Given the description of an element on the screen output the (x, y) to click on. 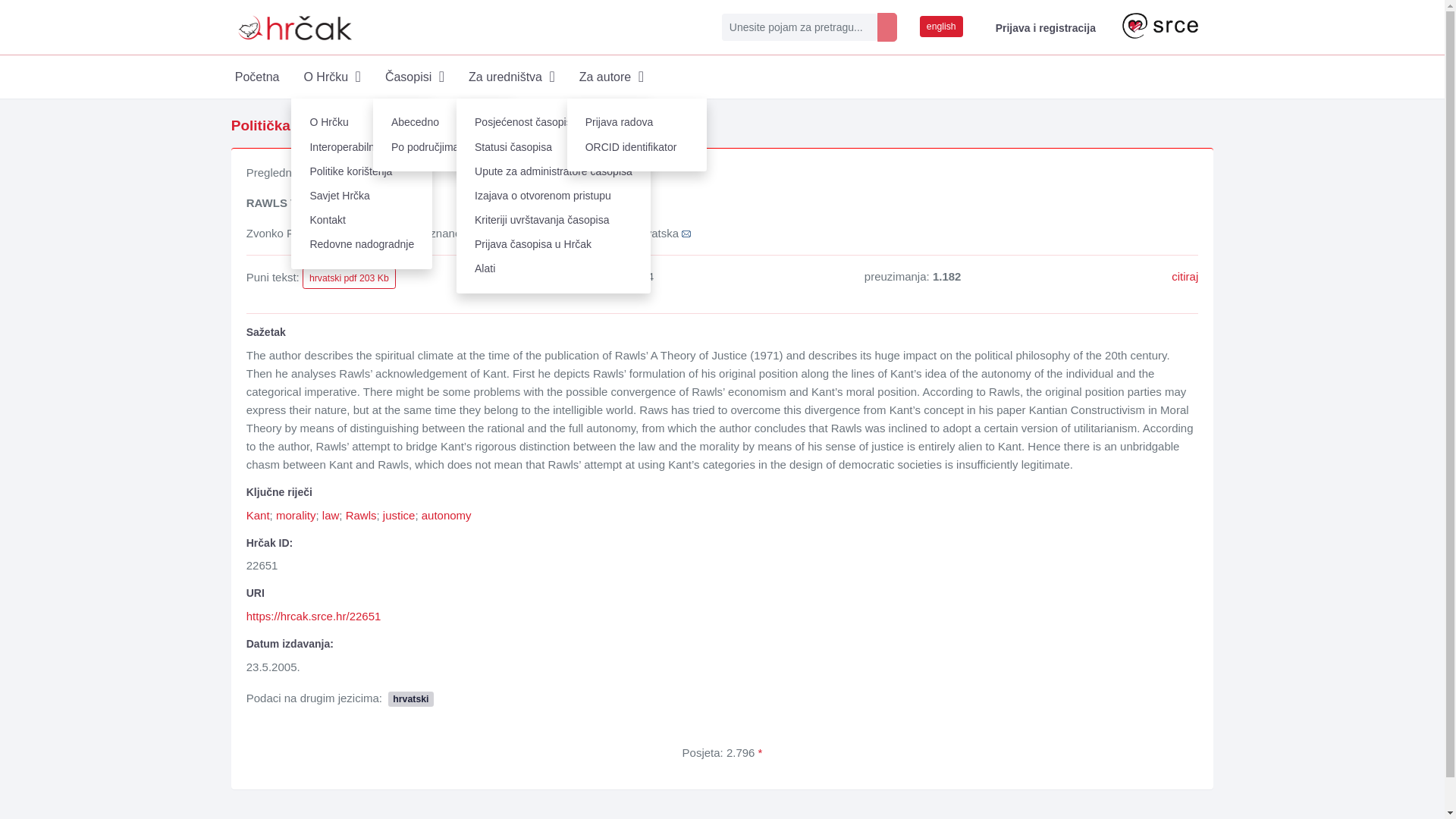
Abecedno (442, 122)
Kant (257, 514)
Kontakt (361, 220)
citiraj (1185, 276)
ORCID identifikator (636, 146)
Izajava o otvorenom pristupu (553, 195)
Interoperabilnost (361, 146)
Prijava radova (636, 122)
Redovne nadogradnje (361, 244)
Prijava i registracija (1042, 27)
